Given the description of an element on the screen output the (x, y) to click on. 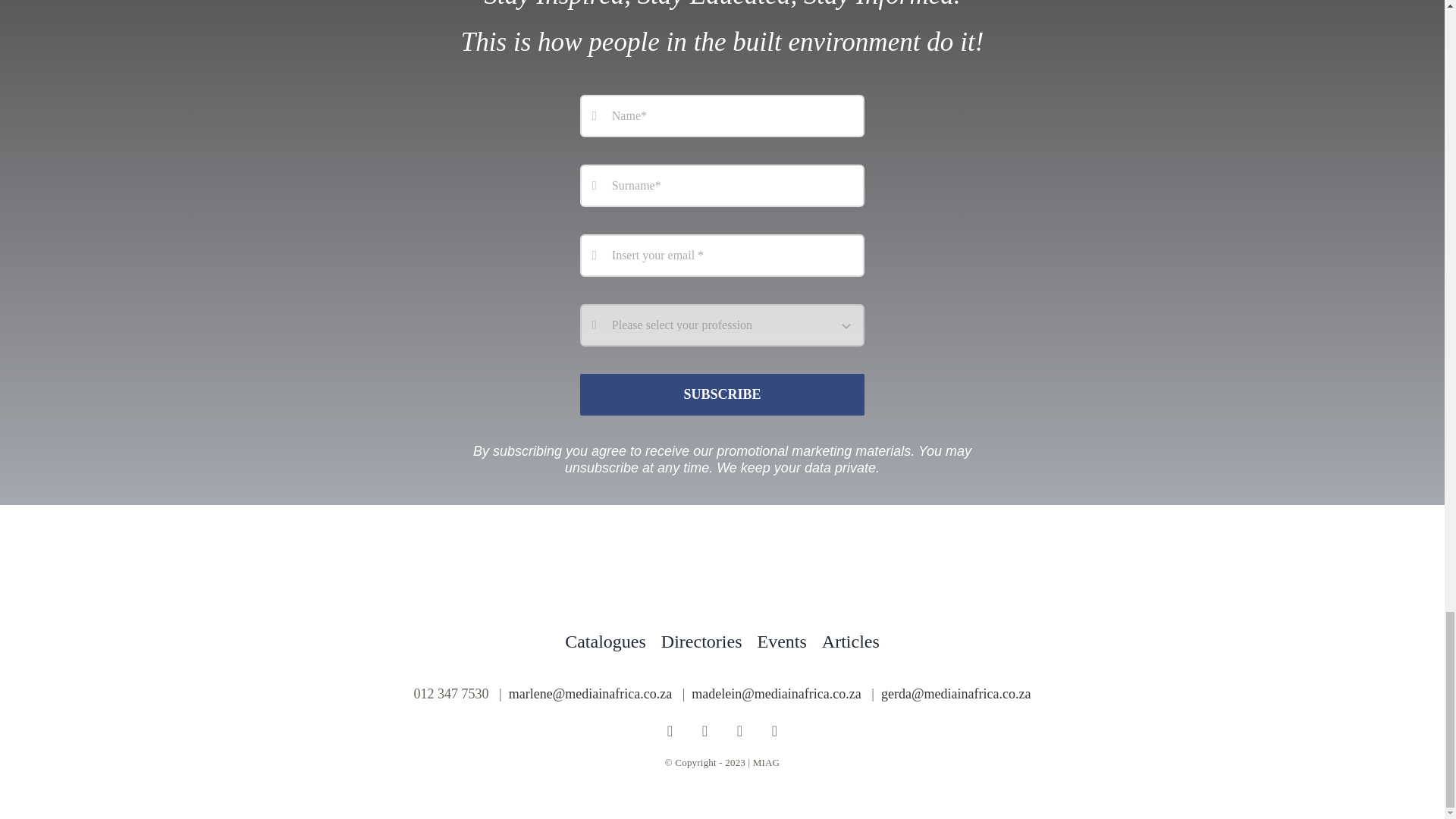
BD Logo-01 (721, 574)
LinkedIn (775, 730)
Facebook (670, 730)
Twitter (740, 730)
Instagram (705, 730)
